Given the description of an element on the screen output the (x, y) to click on. 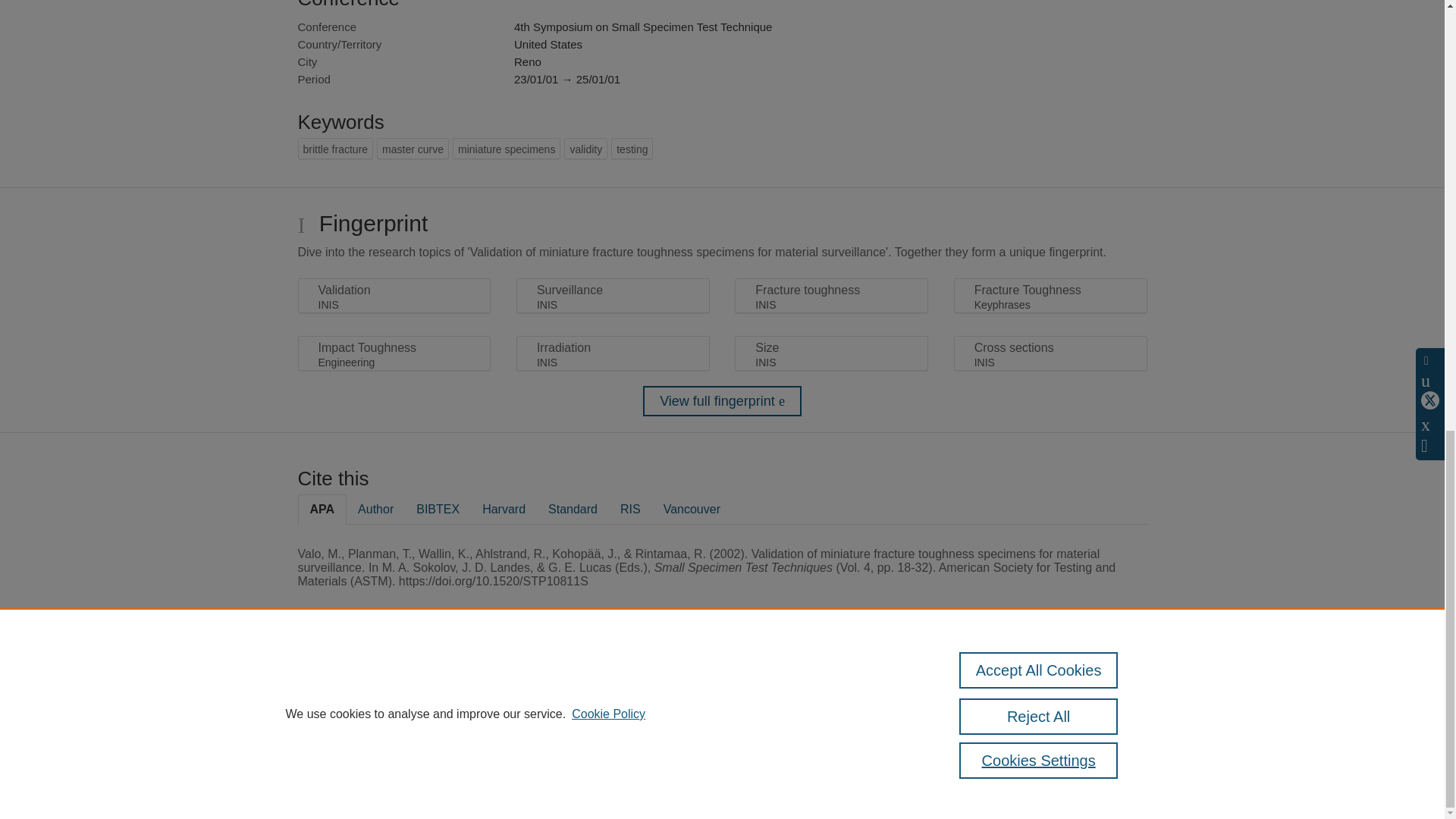
Scopus (394, 686)
Pure (362, 686)
View full fingerprint (722, 400)
